Given the description of an element on the screen output the (x, y) to click on. 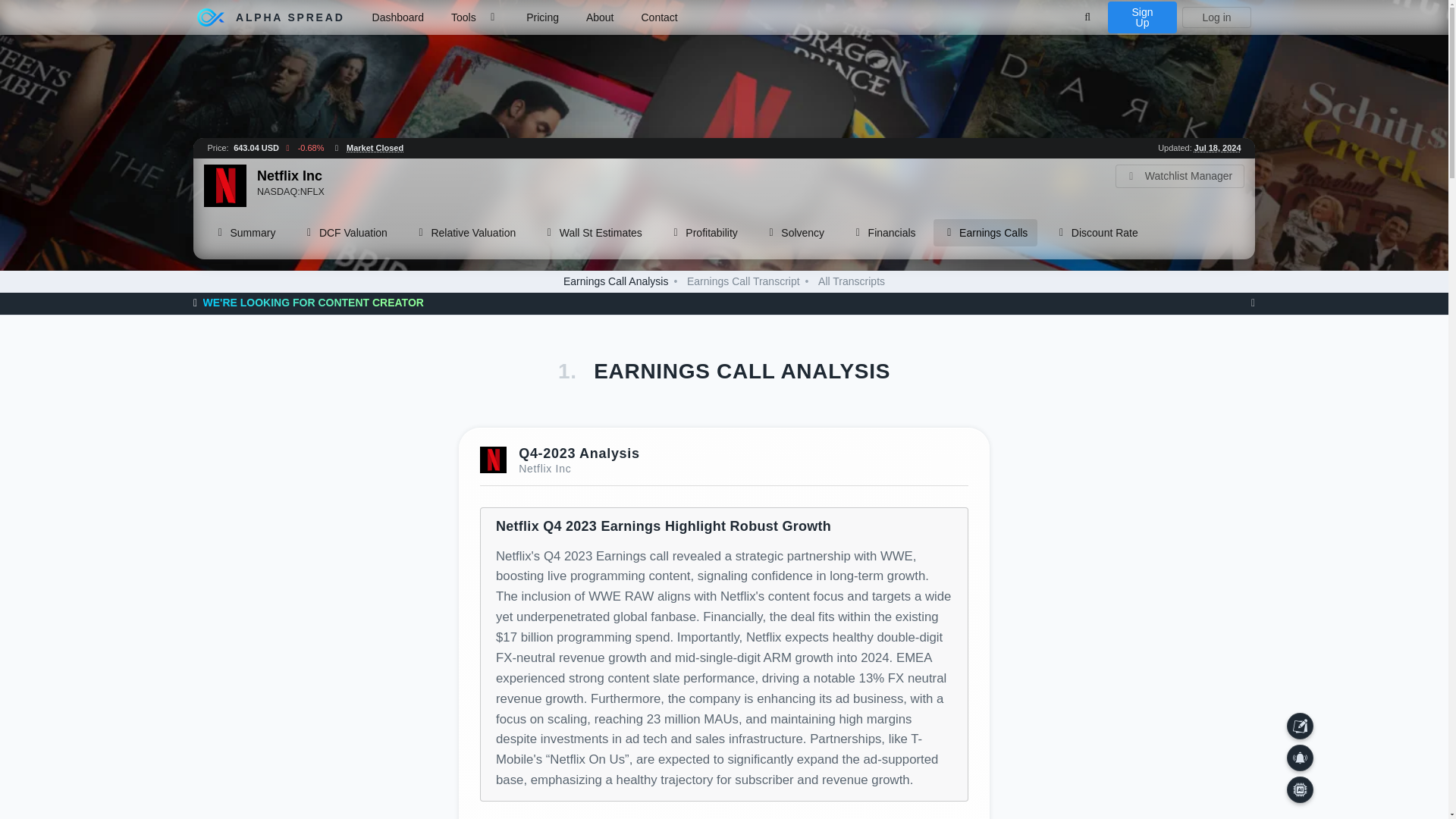
DCF Valuation (344, 232)
Dashboard (397, 17)
Pricing (542, 17)
Earnings Calls (985, 232)
Discount Rate (1096, 232)
Contact (658, 17)
Financials (883, 232)
Profitability (703, 232)
Summary (244, 232)
ALPHA SPREAD (270, 17)
Solvency (794, 232)
About (600, 17)
Wall St Estimates (592, 232)
Tools (474, 17)
